Given the description of an element on the screen output the (x, y) to click on. 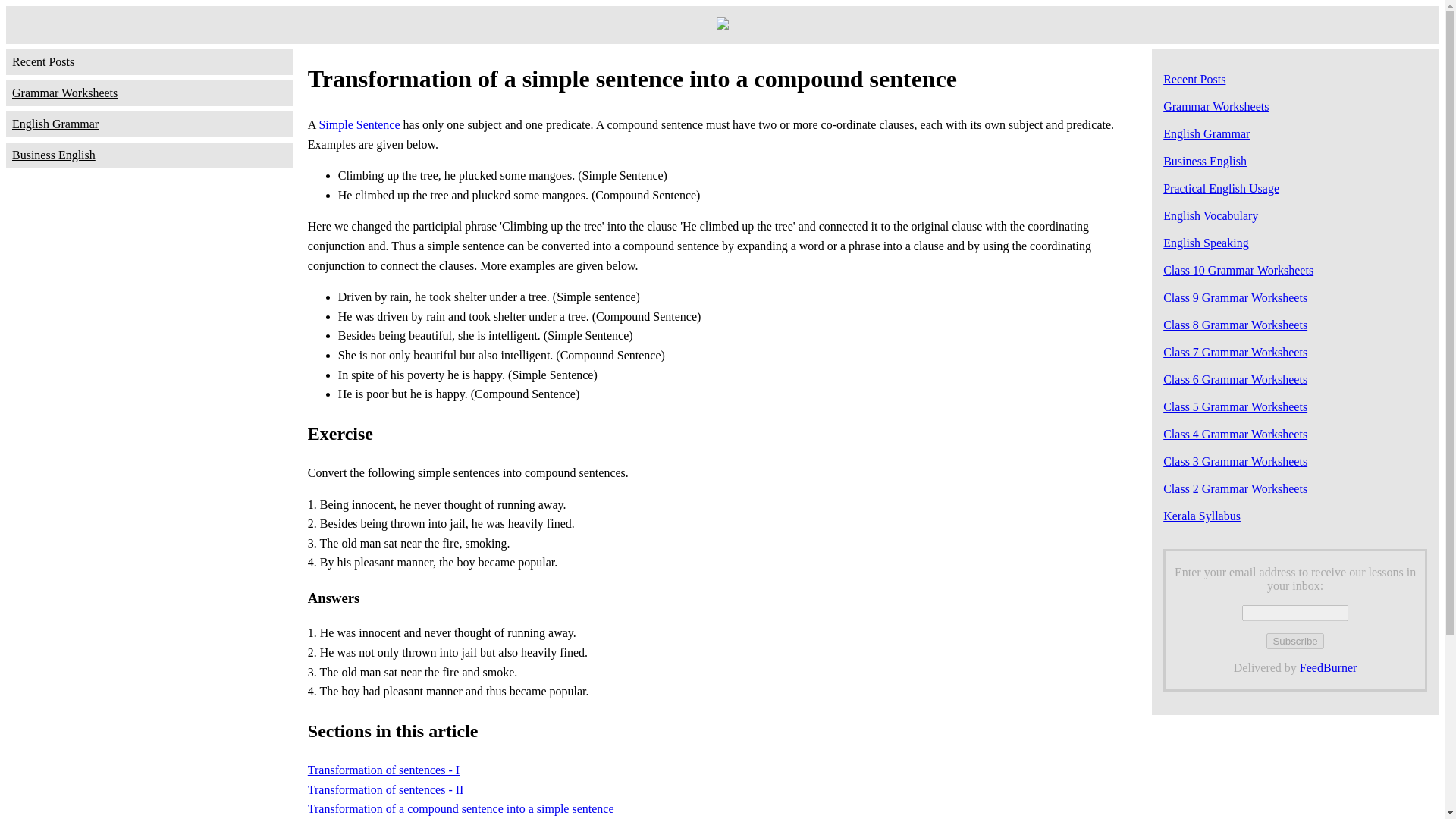
Class 6 Grammar Worksheets (1235, 379)
Subscribe (1294, 641)
Subscribe (1294, 641)
Class 9 Grammar Worksheets (1235, 297)
Recent Posts (1194, 78)
Class 10 Grammar Worksheets (1238, 269)
English Vocabulary (1210, 215)
Class 5 Grammar Worksheets (1235, 406)
FeedBurner (1328, 667)
Recent Posts (148, 62)
Transformation of sentences - I (383, 769)
Transformation of a compound sentence into a simple sentence (460, 808)
Business English (148, 155)
Class 8 Grammar Worksheets (1235, 324)
Grammar Worksheets (148, 93)
